Given the description of an element on the screen output the (x, y) to click on. 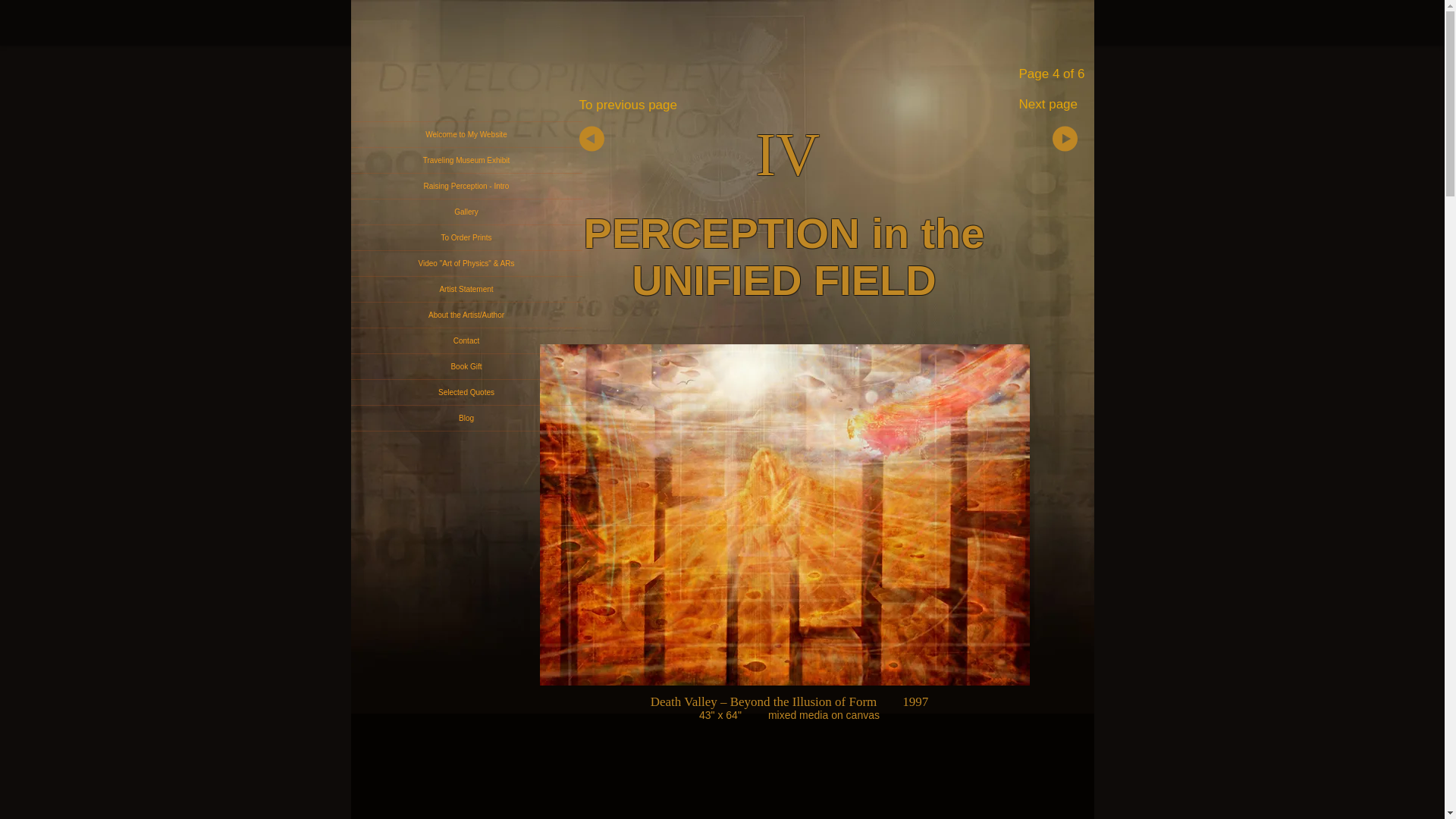
Page 4 of 6 (1051, 73)
Artist Statement (465, 289)
To Order Prints (465, 237)
Raising Perception - Intro (465, 186)
Book Gift (465, 366)
Selected Quotes (465, 392)
Blog (465, 417)
Traveling Museum Exhibit (465, 160)
Welcome to My Website (465, 134)
Contact (465, 340)
Gallery (465, 211)
